Given the description of an element on the screen output the (x, y) to click on. 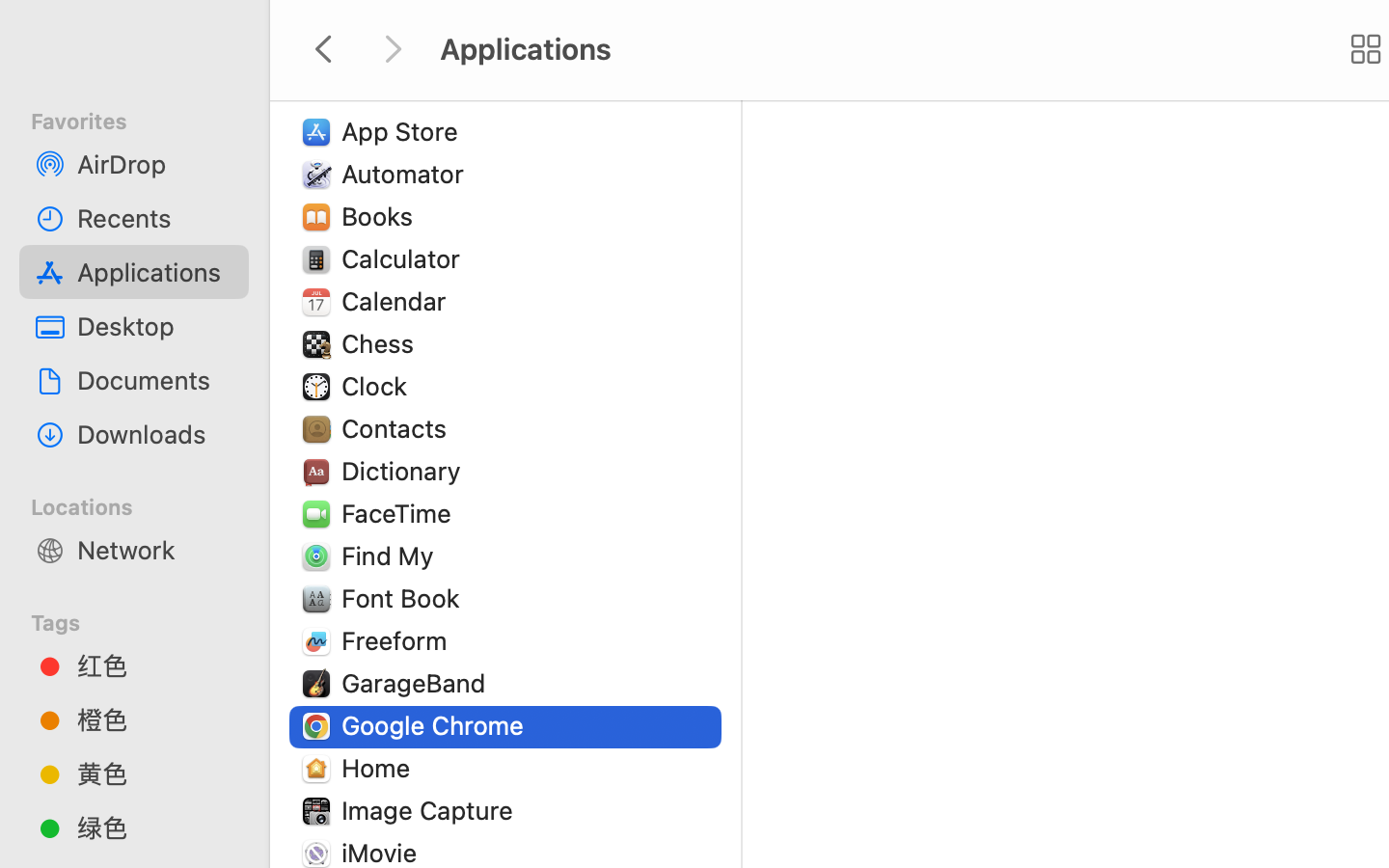
GarageBand Element type: AXTextField (417, 682)
Locations Element type: AXStaticText (145, 504)
Home Element type: AXTextField (379, 767)
Dictionary Element type: AXTextField (404, 470)
Recents Element type: AXStaticText (155, 217)
